Given the description of an element on the screen output the (x, y) to click on. 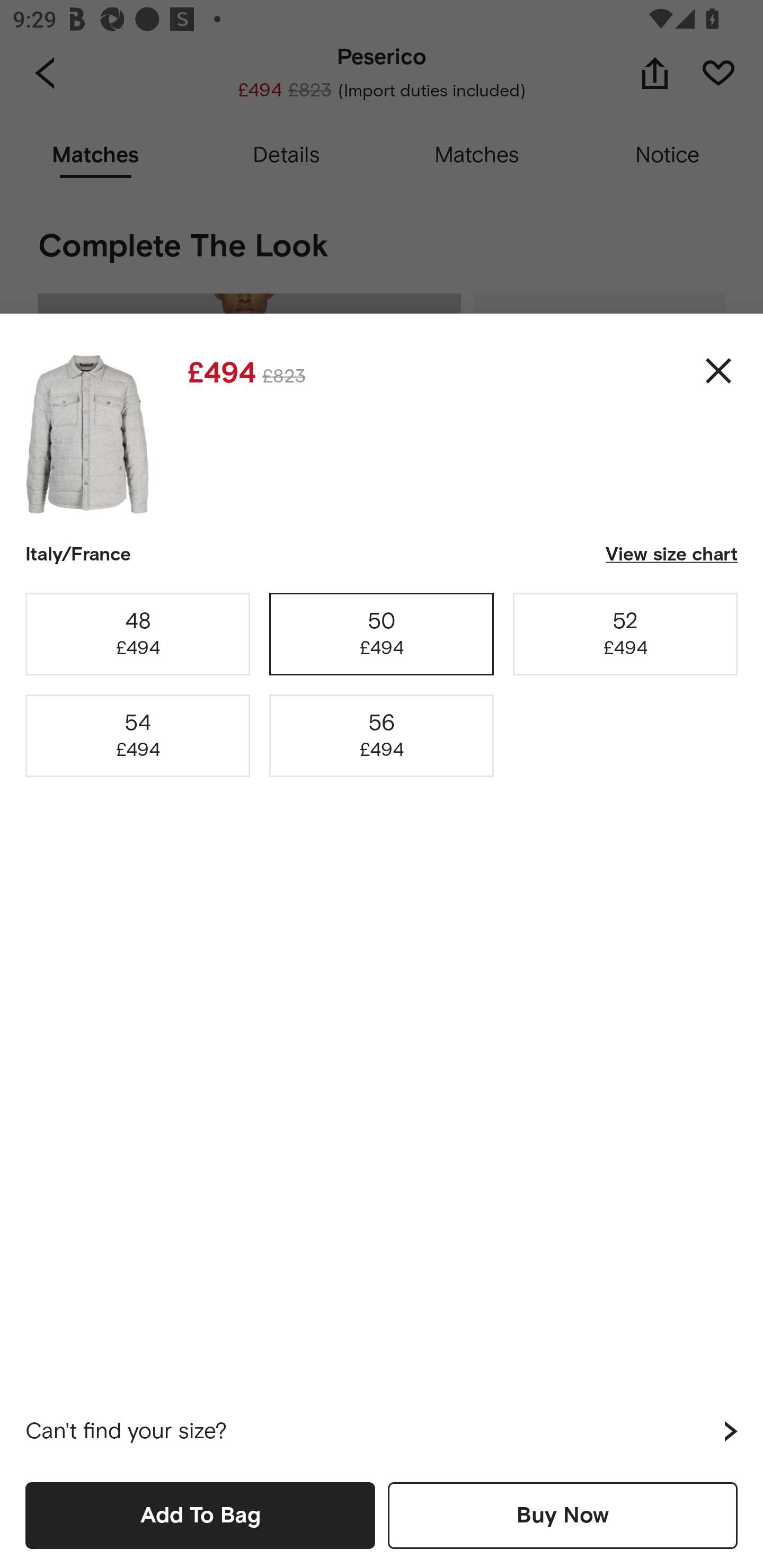
48 £494 (137, 633)
50 £494 (381, 633)
52 £494 (624, 633)
54 £494 (137, 735)
56 £494 (381, 735)
Can't find your size? (381, 1431)
Add To Bag (200, 1515)
Buy Now (562, 1515)
